Given the description of an element on the screen output the (x, y) to click on. 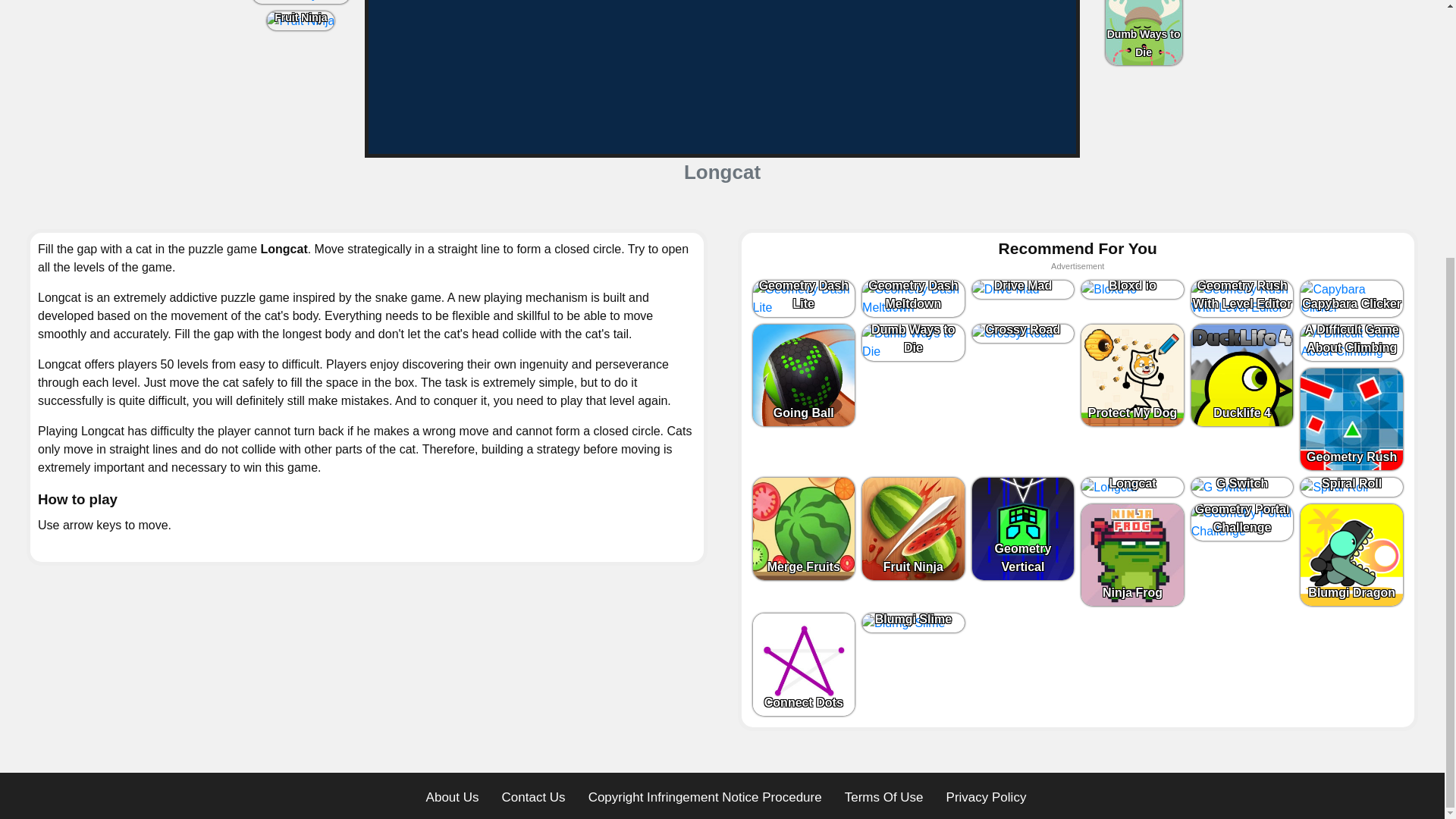
Geometry Rush (300, 2)
Fruit Ninja (300, 20)
Geometry Dash Meltdown (913, 298)
Bloxd io (1132, 289)
Capybara Clicker (1351, 298)
Drive Mad (1023, 289)
Dumb Ways to Die (1144, 32)
Geometry Rush (300, 2)
Geometry Rush With Level Editor (1242, 298)
Fruit Ninja (300, 21)
Geometry Dash Lite (804, 298)
